Given the description of an element on the screen output the (x, y) to click on. 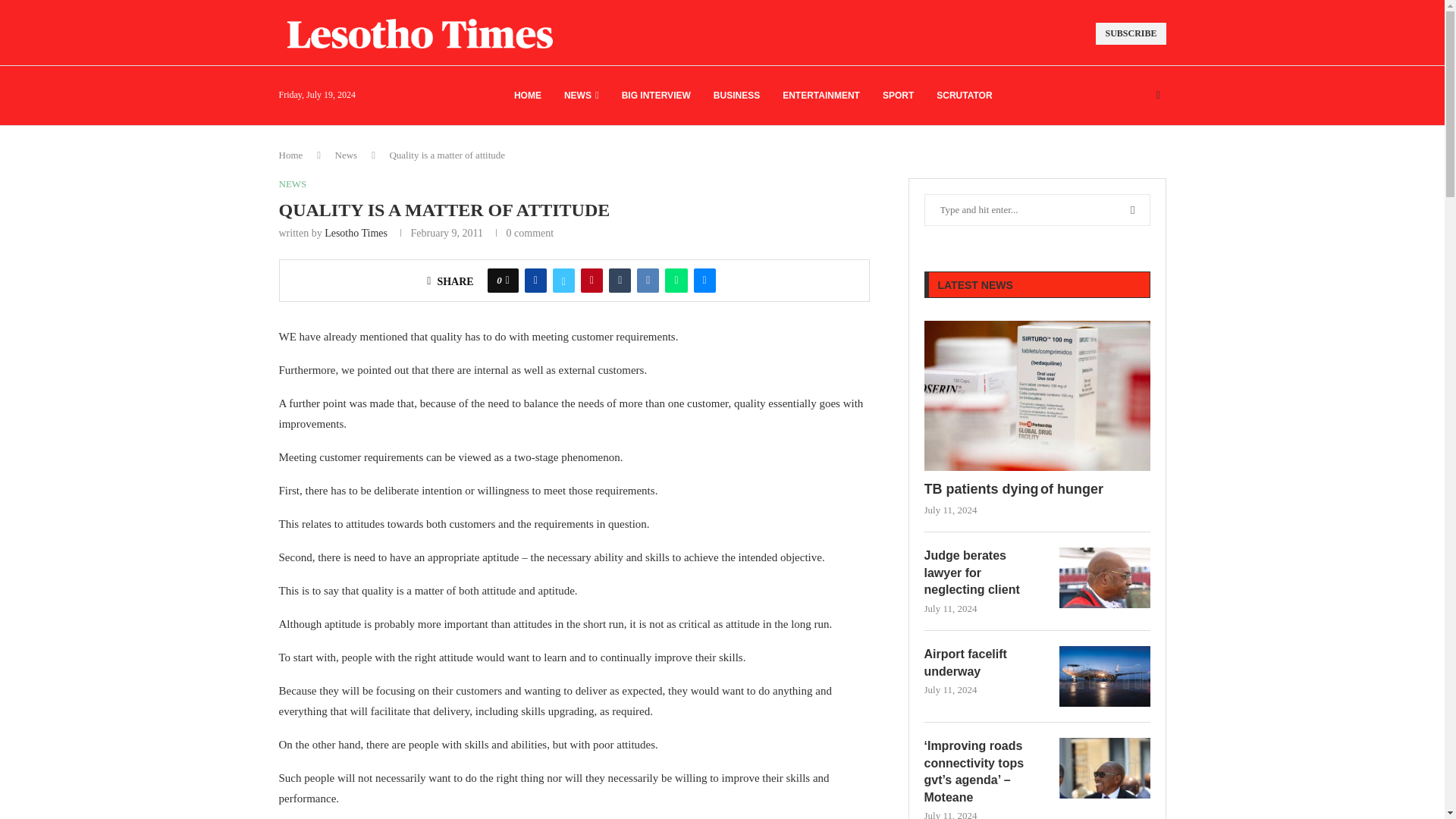
BIG INTERVIEW (655, 95)
SCRUTATOR (963, 95)
ENTERTAINMENT (821, 95)
BUSINESS (736, 95)
SUBSCRIBE (1131, 33)
